Given the description of an element on the screen output the (x, y) to click on. 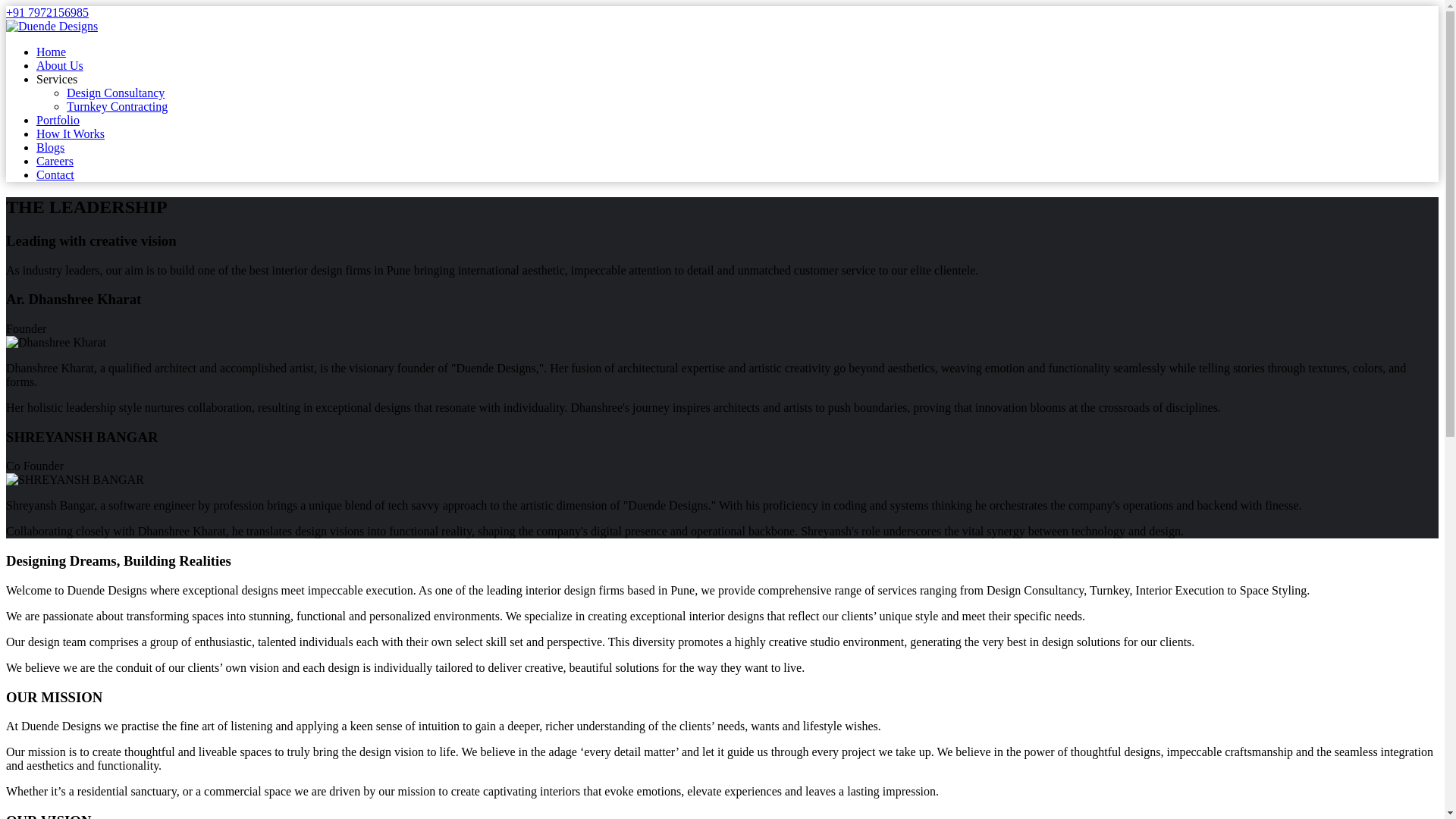
Design Consultancy (115, 92)
Blogs (50, 146)
Contact (55, 174)
About Us (59, 65)
How It Works (70, 133)
Careers (55, 160)
Turnkey Contracting (116, 106)
Services (56, 78)
Home (50, 51)
Portfolio (58, 119)
